Given the description of an element on the screen output the (x, y) to click on. 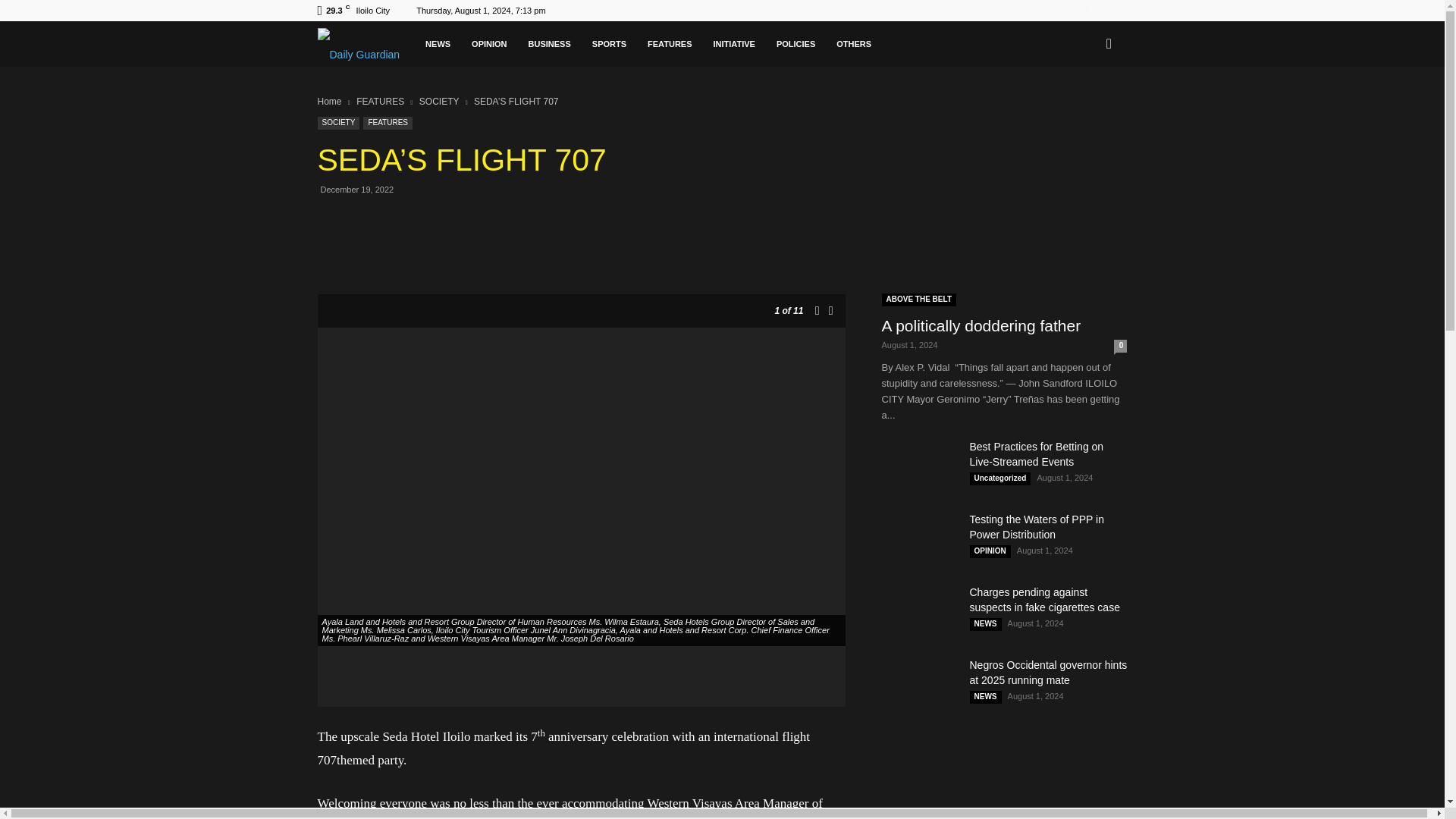
Daily Guardian (365, 47)
We write, you decide. (357, 48)
NEWS (437, 43)
Facebook (1090, 10)
Twitter (1114, 10)
